Given the description of an element on the screen output the (x, y) to click on. 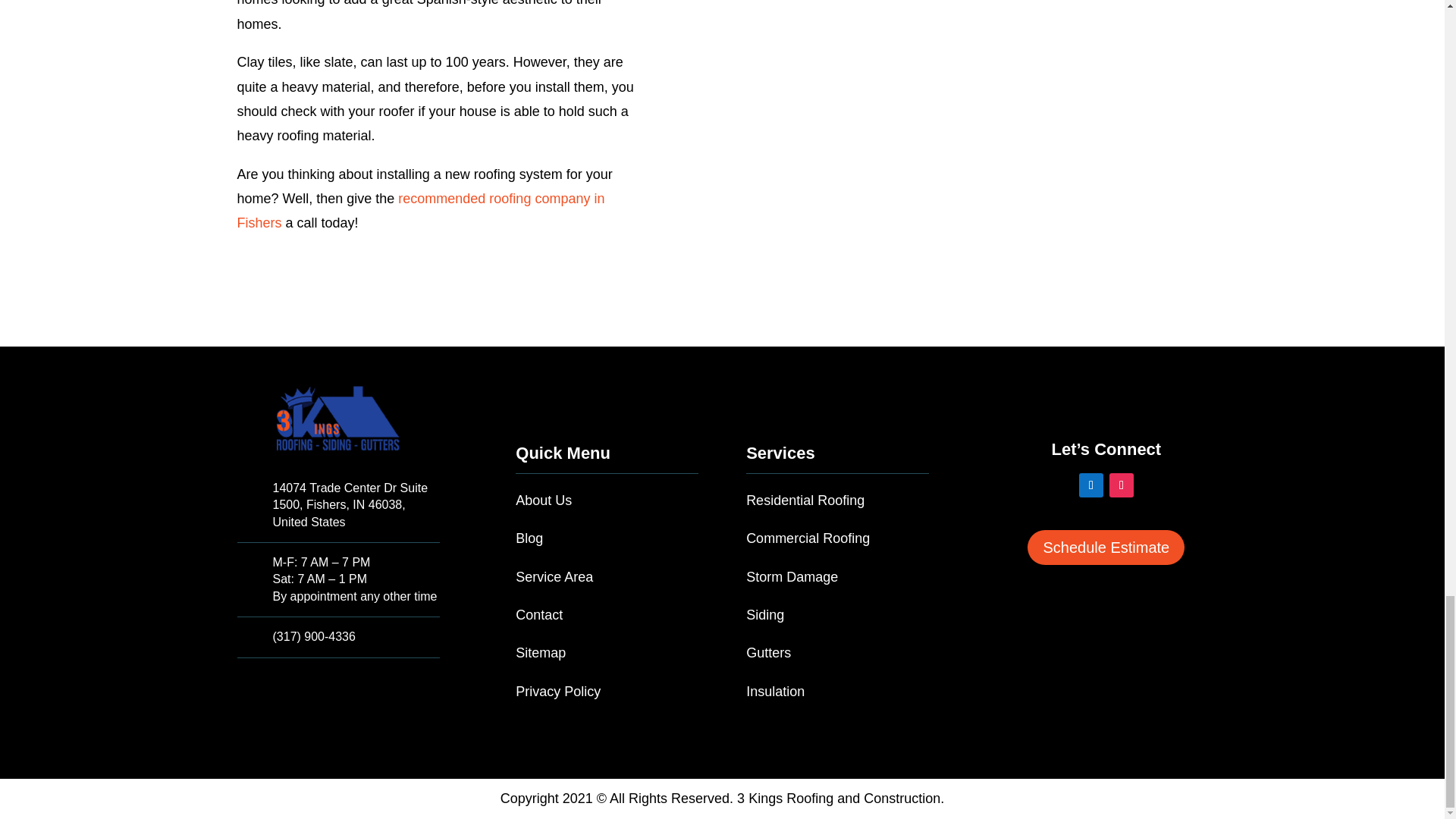
Follow on Instagram (1121, 485)
Follow on Facebook (1090, 485)
logo-footer (337, 418)
